Given the description of an element on the screen output the (x, y) to click on. 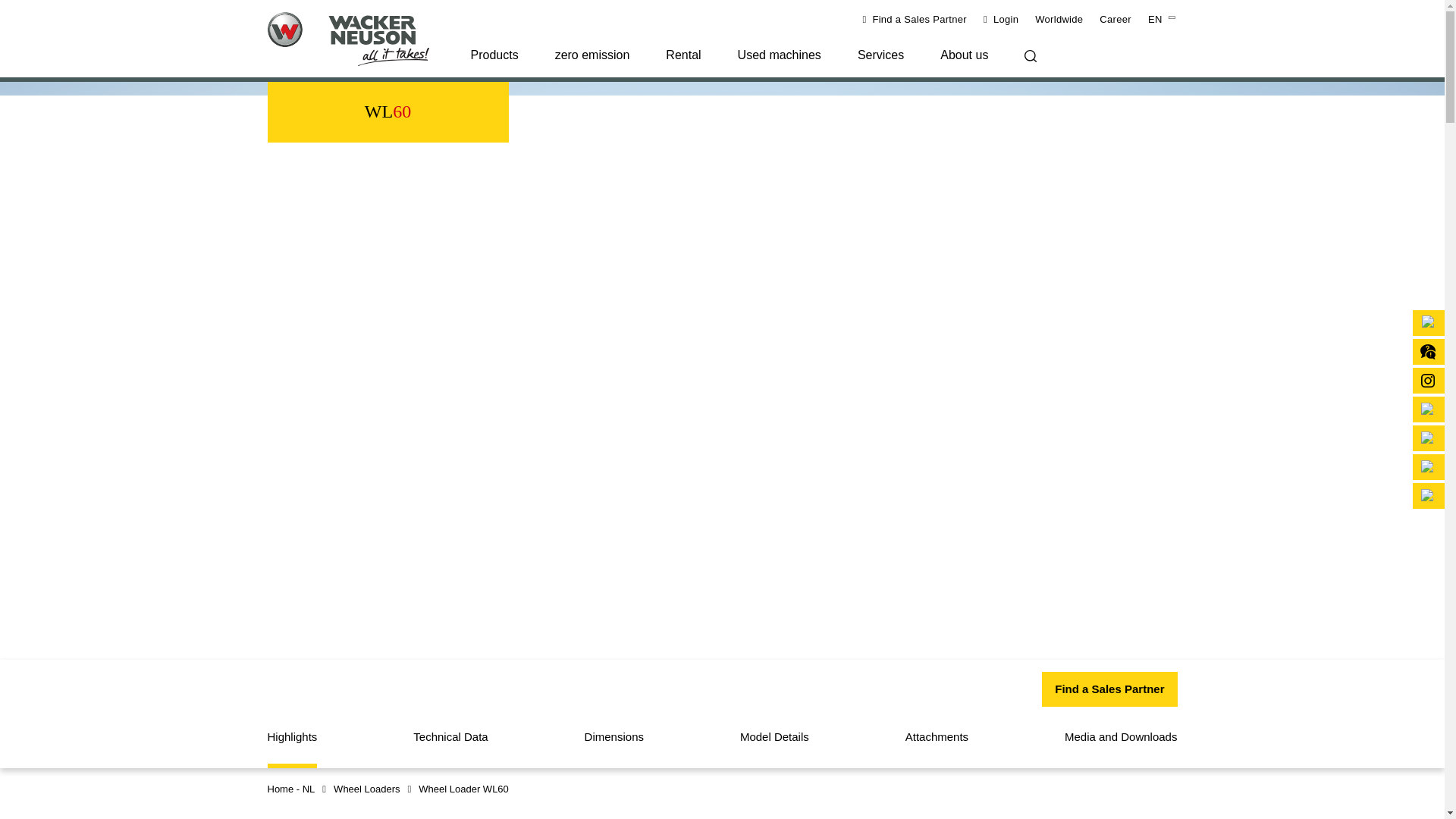
Find a Sales Partner (913, 19)
Worldwide (1059, 19)
Login (1000, 19)
Products (493, 62)
Find a Sales Partner (913, 19)
Career (1115, 19)
Login (1000, 19)
EN (1162, 19)
Worldwide (1059, 19)
Startpage (358, 39)
